Given the description of an element on the screen output the (x, y) to click on. 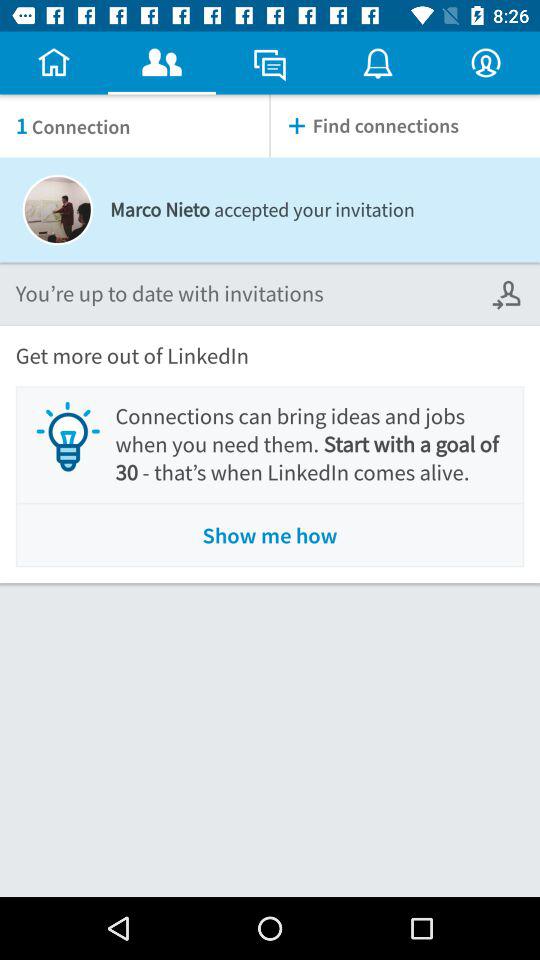
turn on the icon below find connections icon (508, 293)
